Given the description of an element on the screen output the (x, y) to click on. 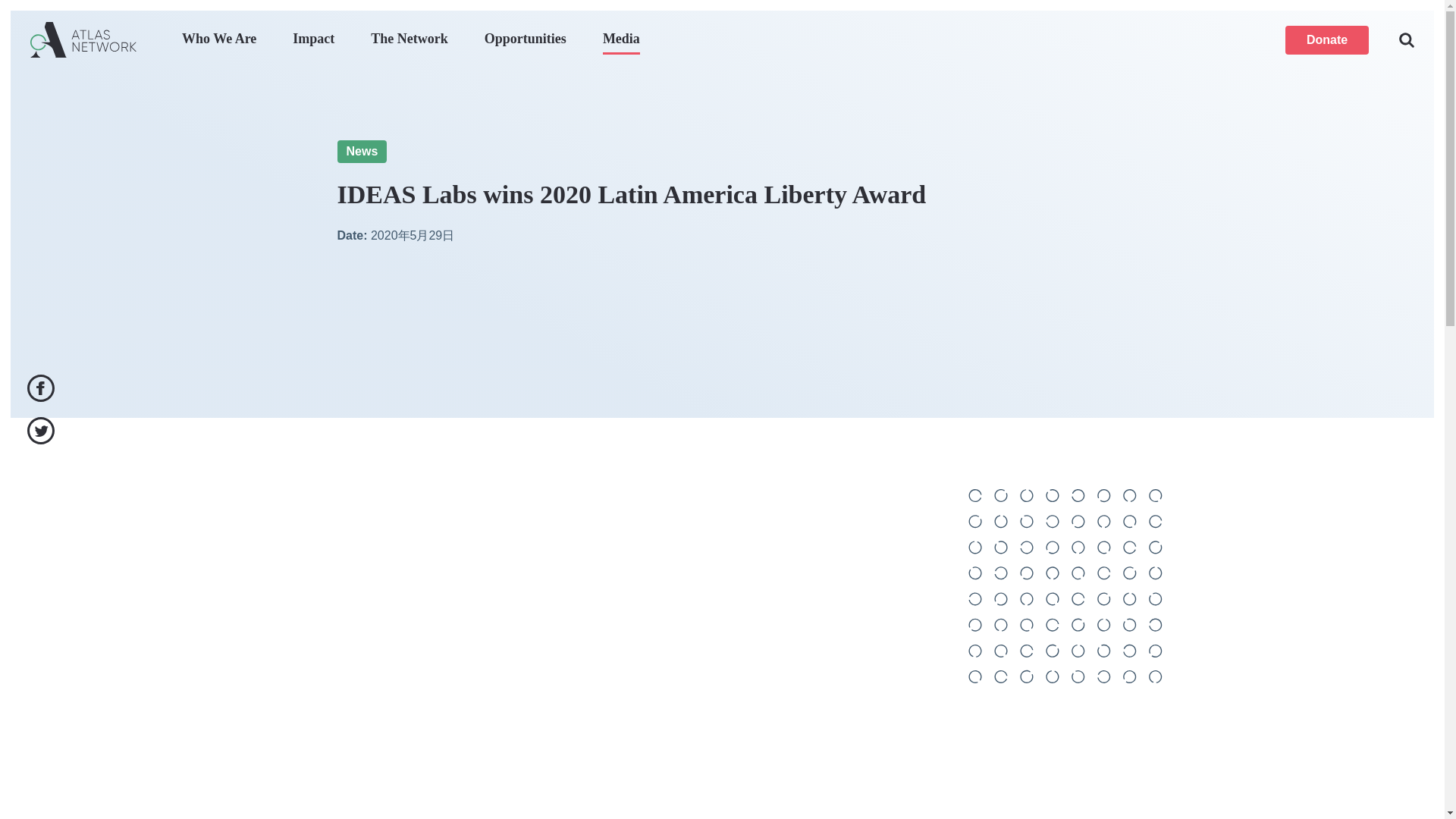
Donate (1326, 39)
News (361, 151)
Atlas Network (83, 39)
